Given the description of an element on the screen output the (x, y) to click on. 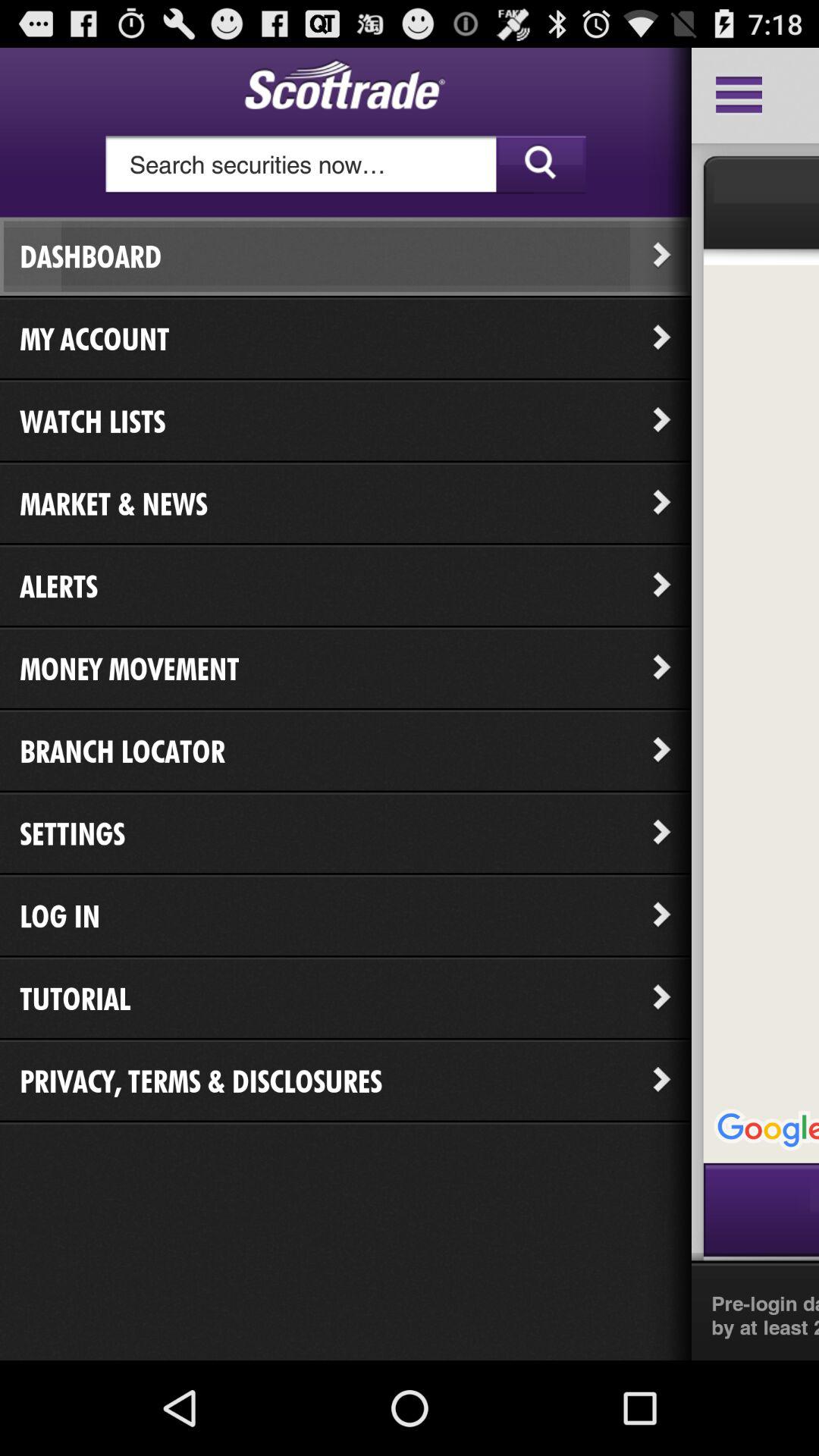
click on icon on the right side of privacy terms and disclosures (662, 1080)
